Given the description of an element on the screen output the (x, y) to click on. 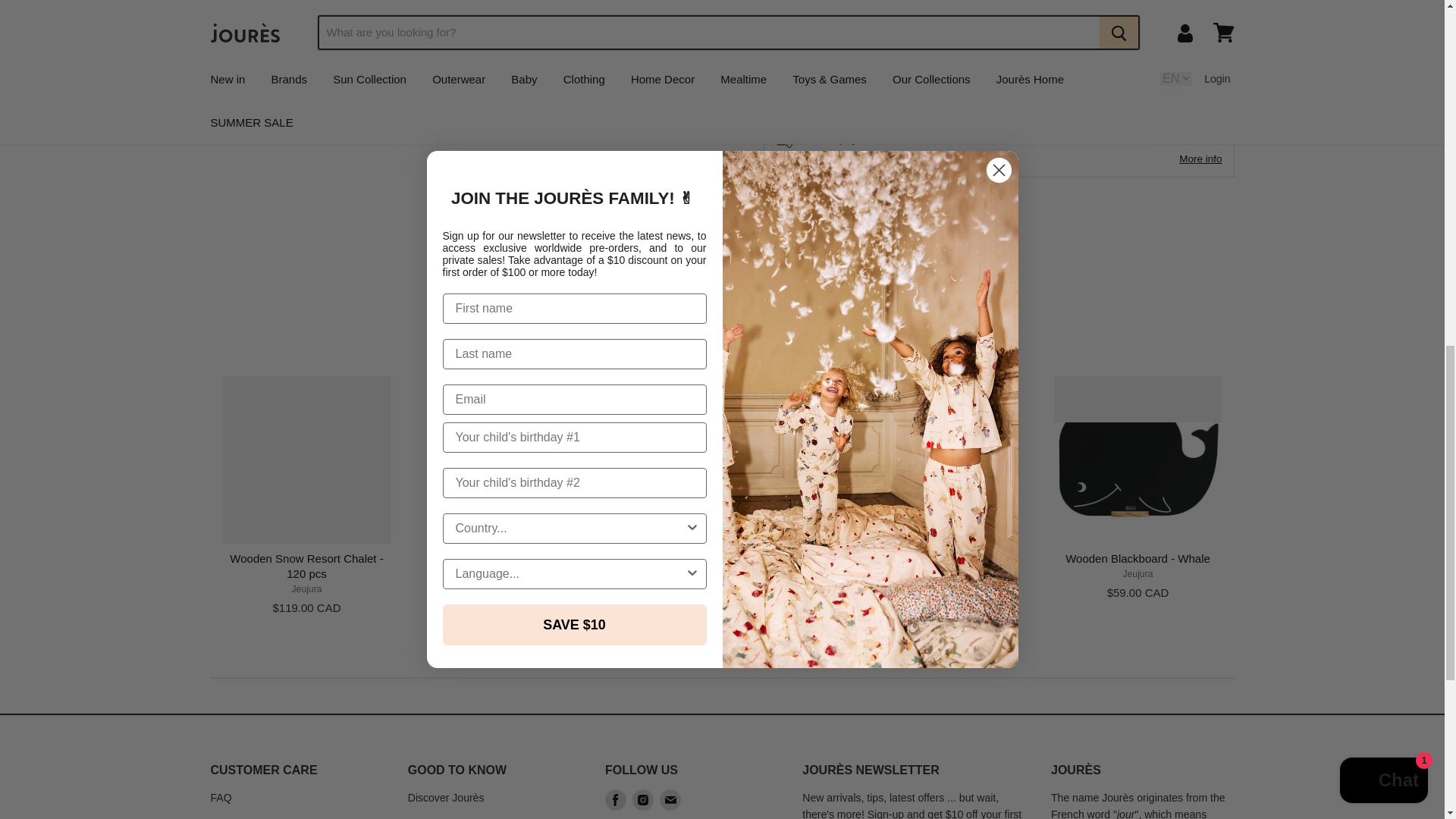
Jeujura (1137, 573)
E-mail (670, 800)
Jeujura (929, 573)
Jeujura (722, 573)
Instagram (642, 800)
Jeujura (306, 588)
Facebook (615, 800)
Jeujura (514, 573)
